Given the description of an element on the screen output the (x, y) to click on. 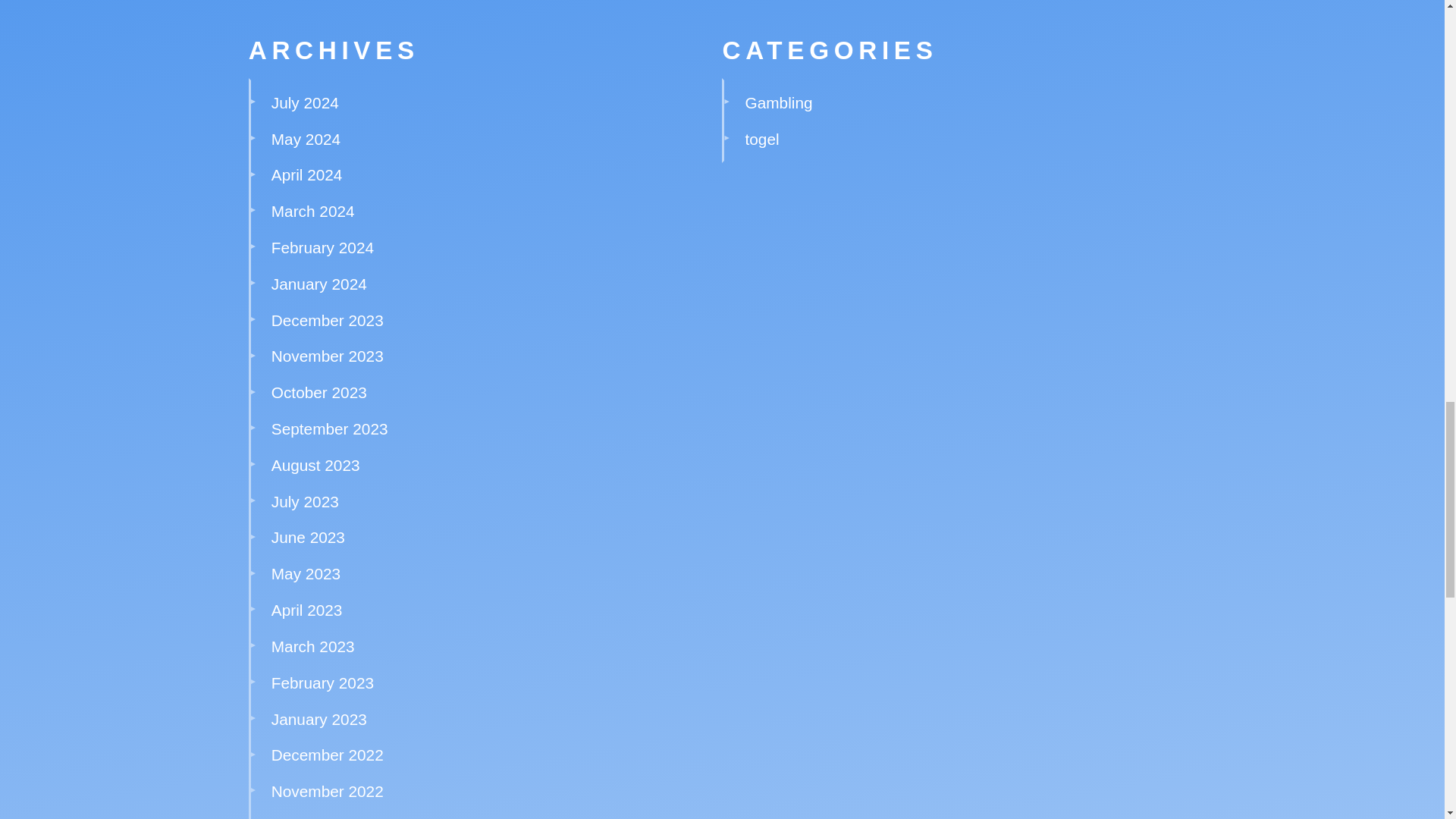
July 2024 (304, 102)
May 2024 (305, 139)
December 2023 (327, 320)
June 2023 (307, 537)
February 2023 (322, 682)
September 2023 (329, 428)
July 2023 (304, 501)
May 2023 (305, 573)
December 2022 (327, 754)
November 2022 (327, 791)
November 2023 (327, 355)
April 2023 (306, 610)
February 2024 (322, 247)
January 2024 (318, 283)
August 2023 (314, 465)
